Given the description of an element on the screen output the (x, y) to click on. 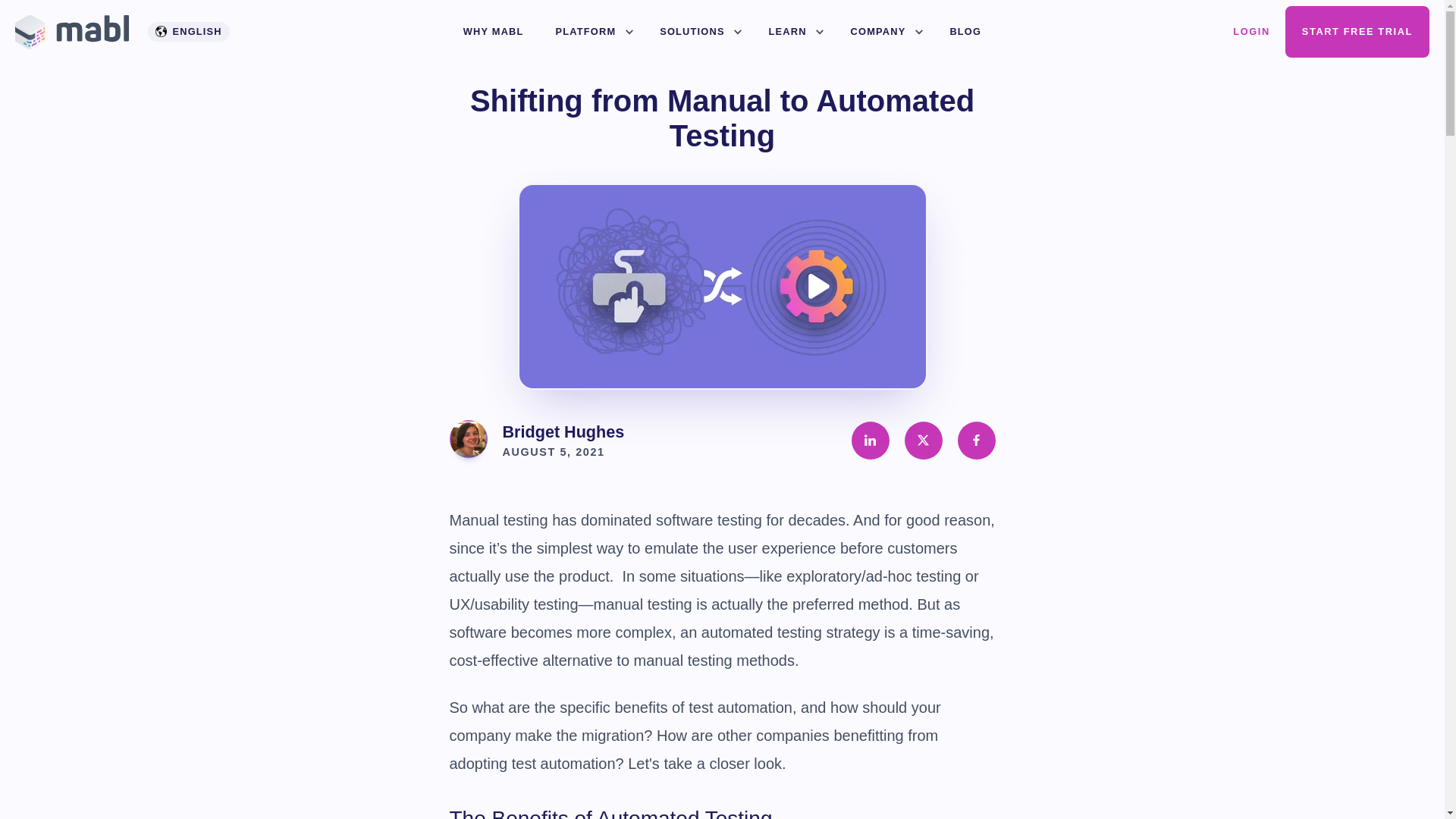
PLATFORM (591, 31)
WHY MABL (493, 31)
SOLUTIONS (698, 31)
